Given the description of an element on the screen output the (x, y) to click on. 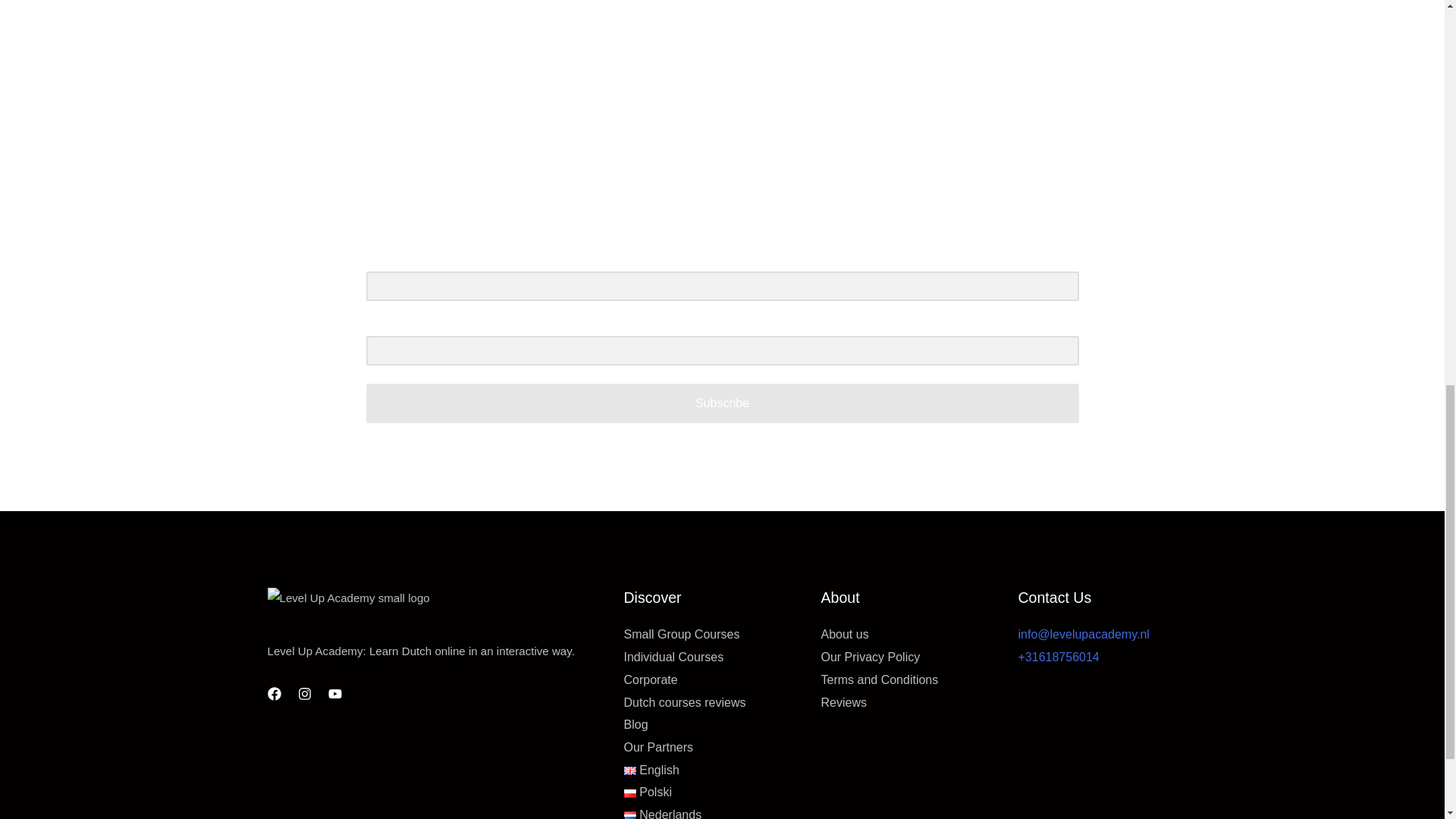
Subscribe (721, 403)
Corporate (650, 679)
Individual Courses (673, 656)
Small Group Courses (681, 634)
